Given the description of an element on the screen output the (x, y) to click on. 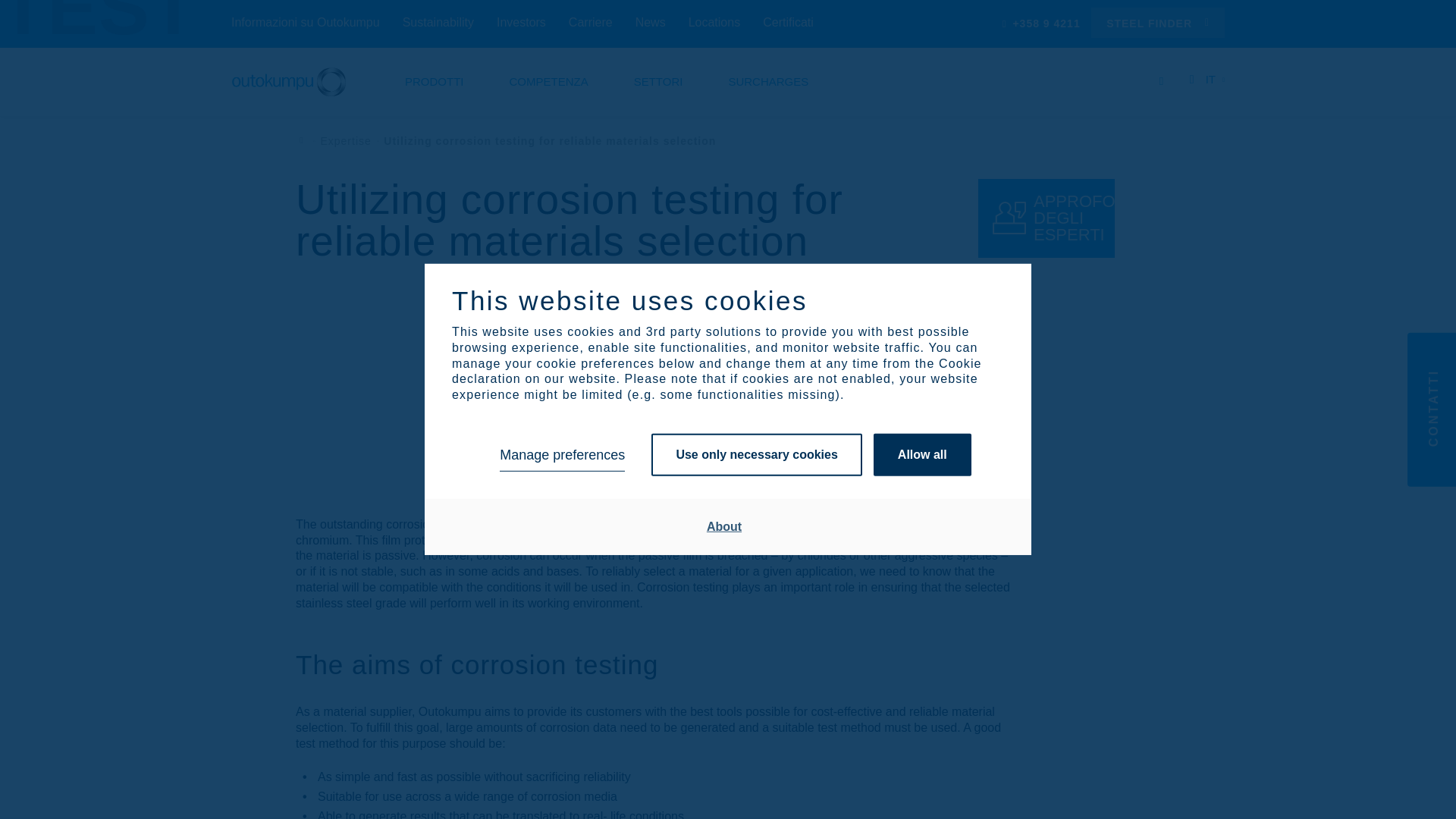
About (724, 526)
Manage preferences (561, 454)
Use only necessary cookies (755, 454)
Allow all (922, 454)
